Given the description of an element on the screen output the (x, y) to click on. 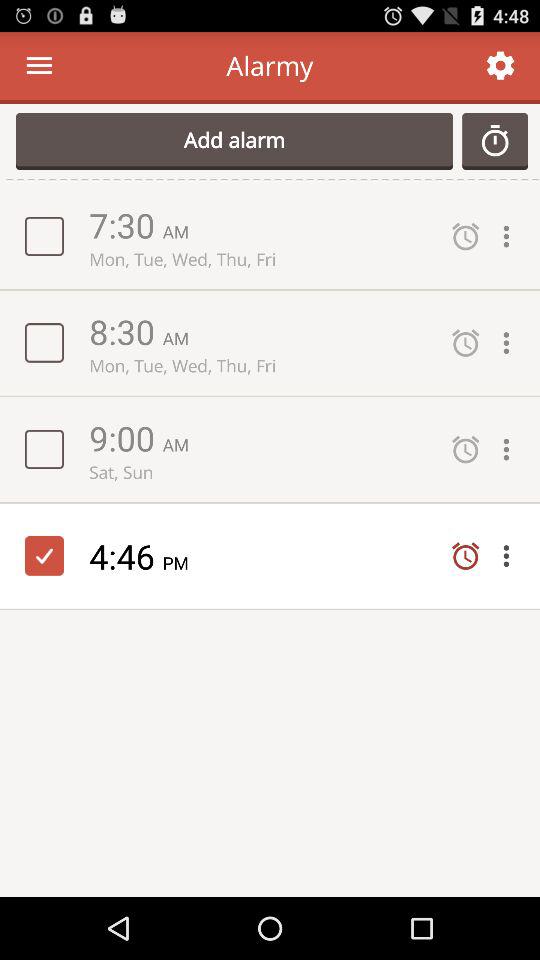
select the item to the left of the am (125, 437)
